Given the description of an element on the screen output the (x, y) to click on. 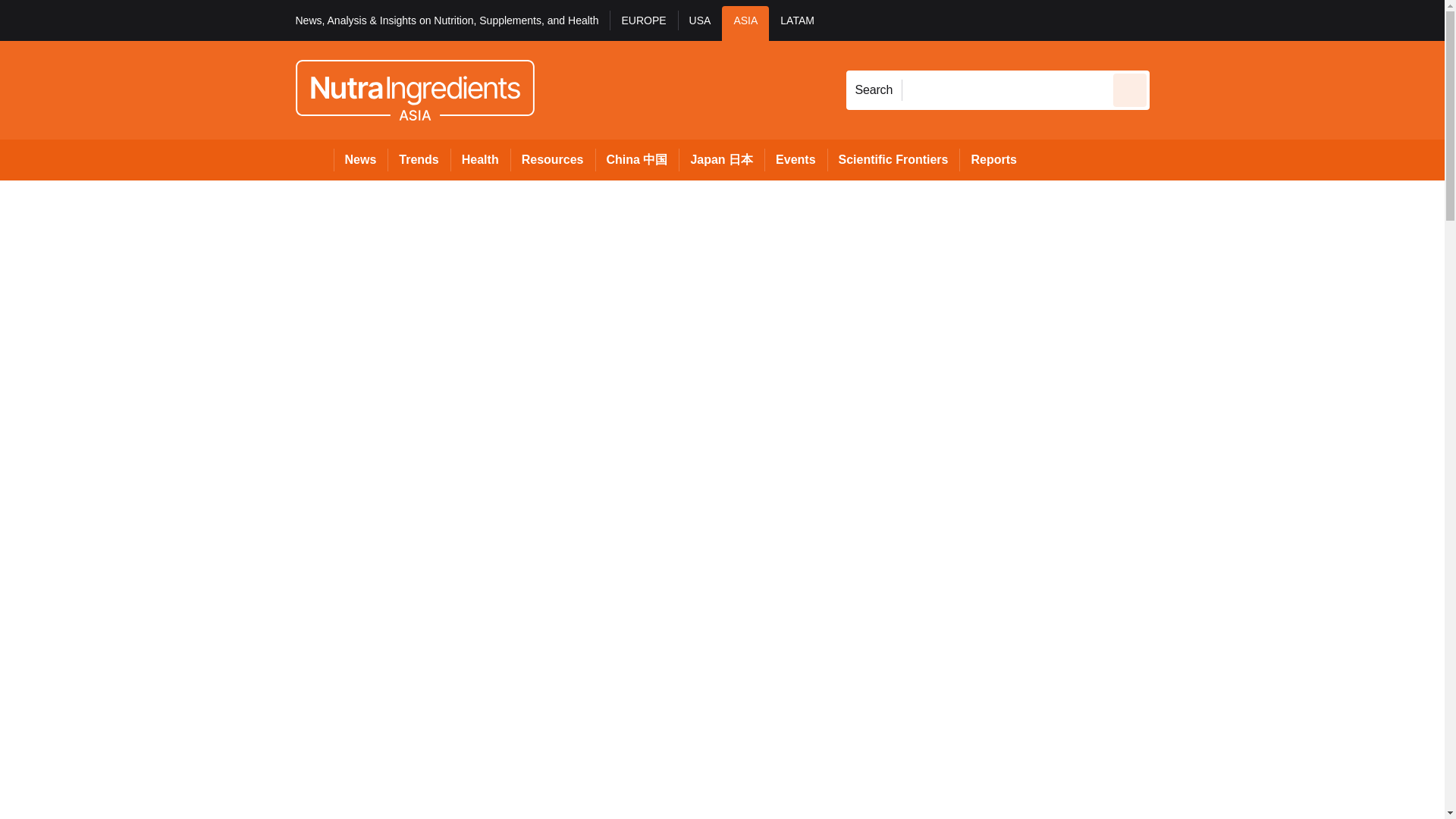
Home (314, 159)
News (360, 159)
SUBSCRIBE (1318, 20)
NutraIngredients Asia (414, 89)
My account (1256, 20)
Trends (418, 159)
Sign in (1171, 20)
Home (313, 159)
SUBSCRIBE (1362, 20)
Send (1129, 89)
